Given the description of an element on the screen output the (x, y) to click on. 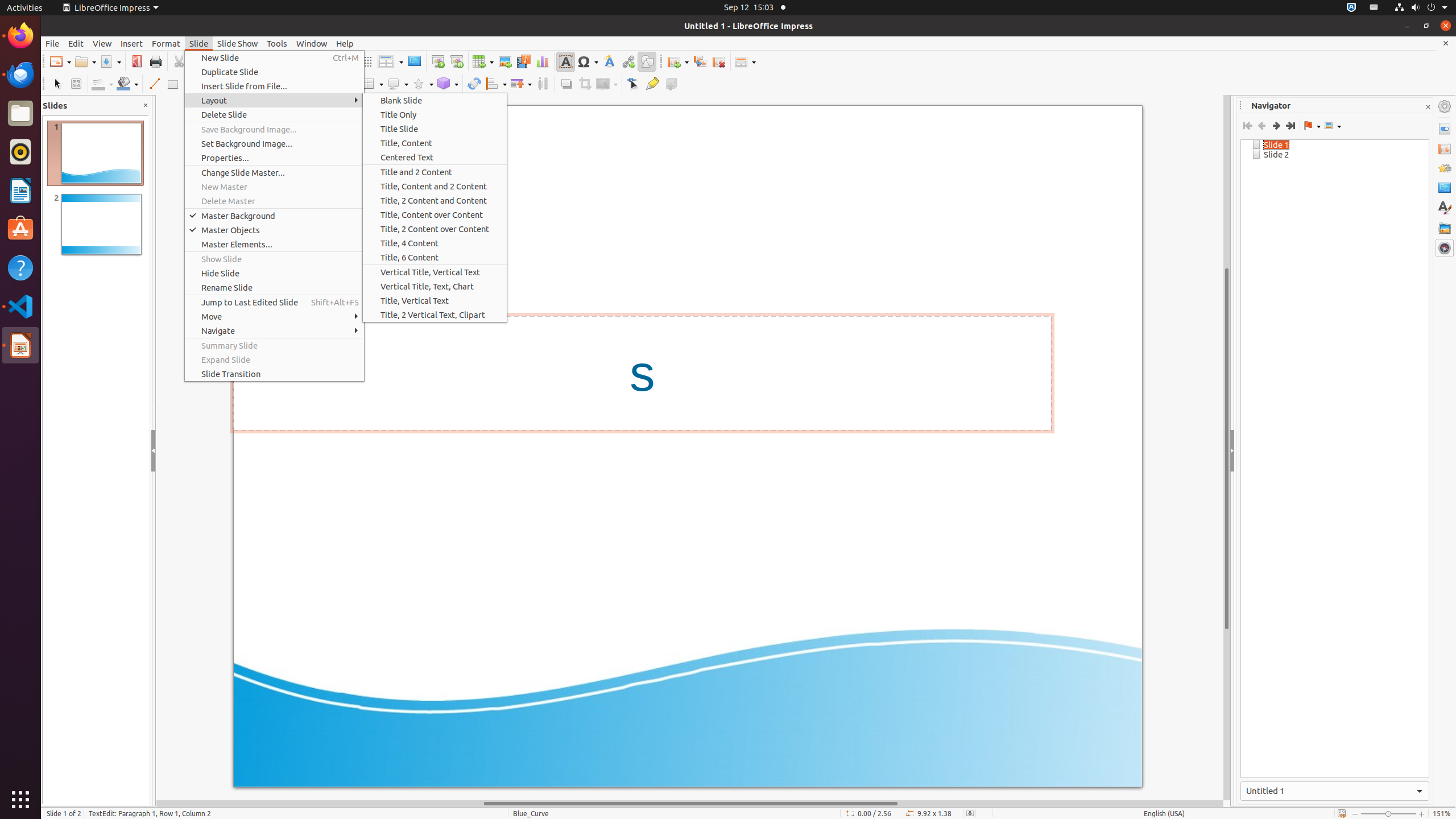
Title, Content Element type: menu-item (434, 142)
Save Background Image... Element type: menu-item (274, 129)
Thunderbird Mail Element type: push-button (20, 74)
Styles Element type: radio-button (1444, 208)
